Given the description of an element on the screen output the (x, y) to click on. 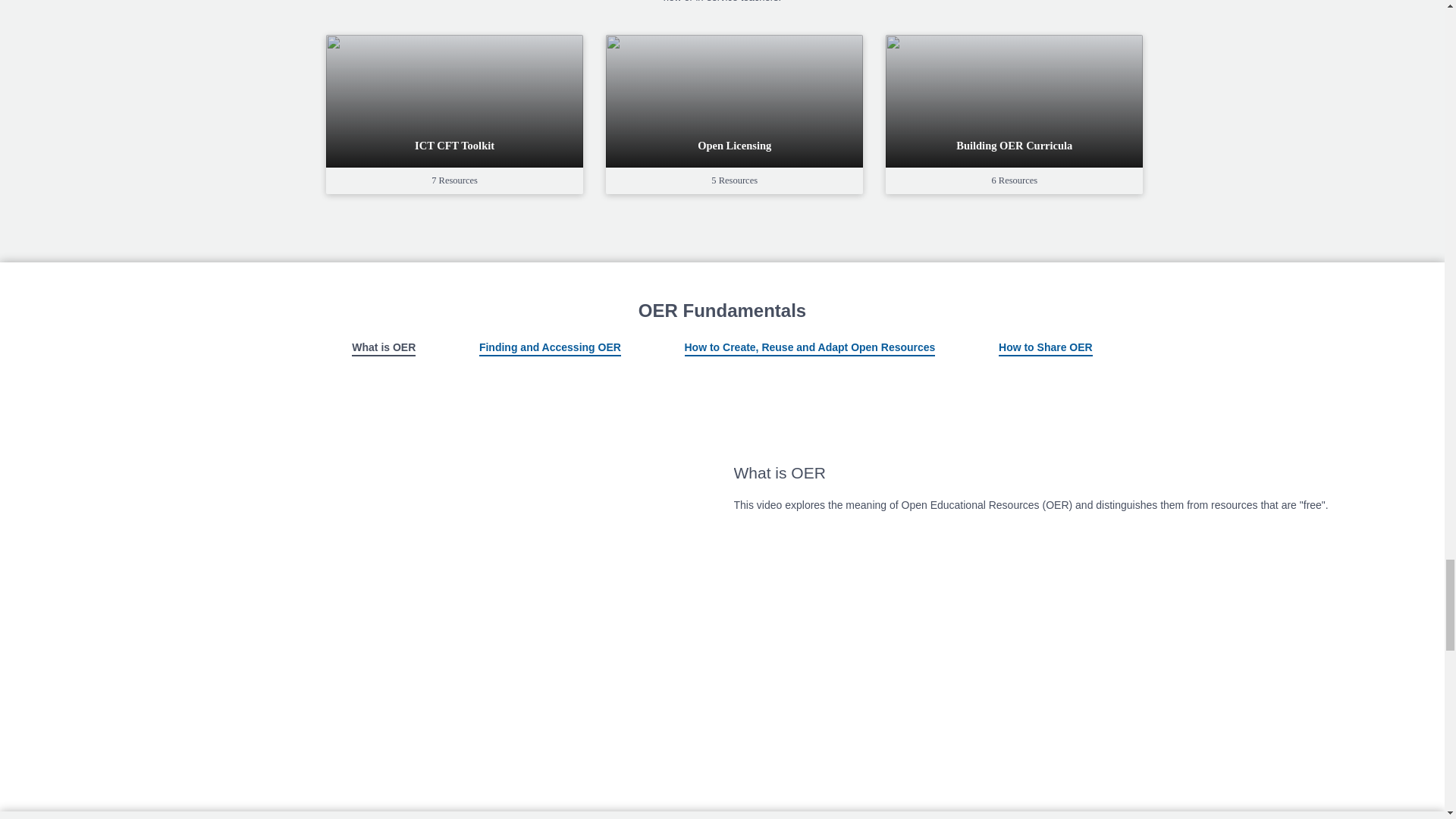
The Kaltura Dynamic Video Player (380, 554)
